Given the description of an element on the screen output the (x, y) to click on. 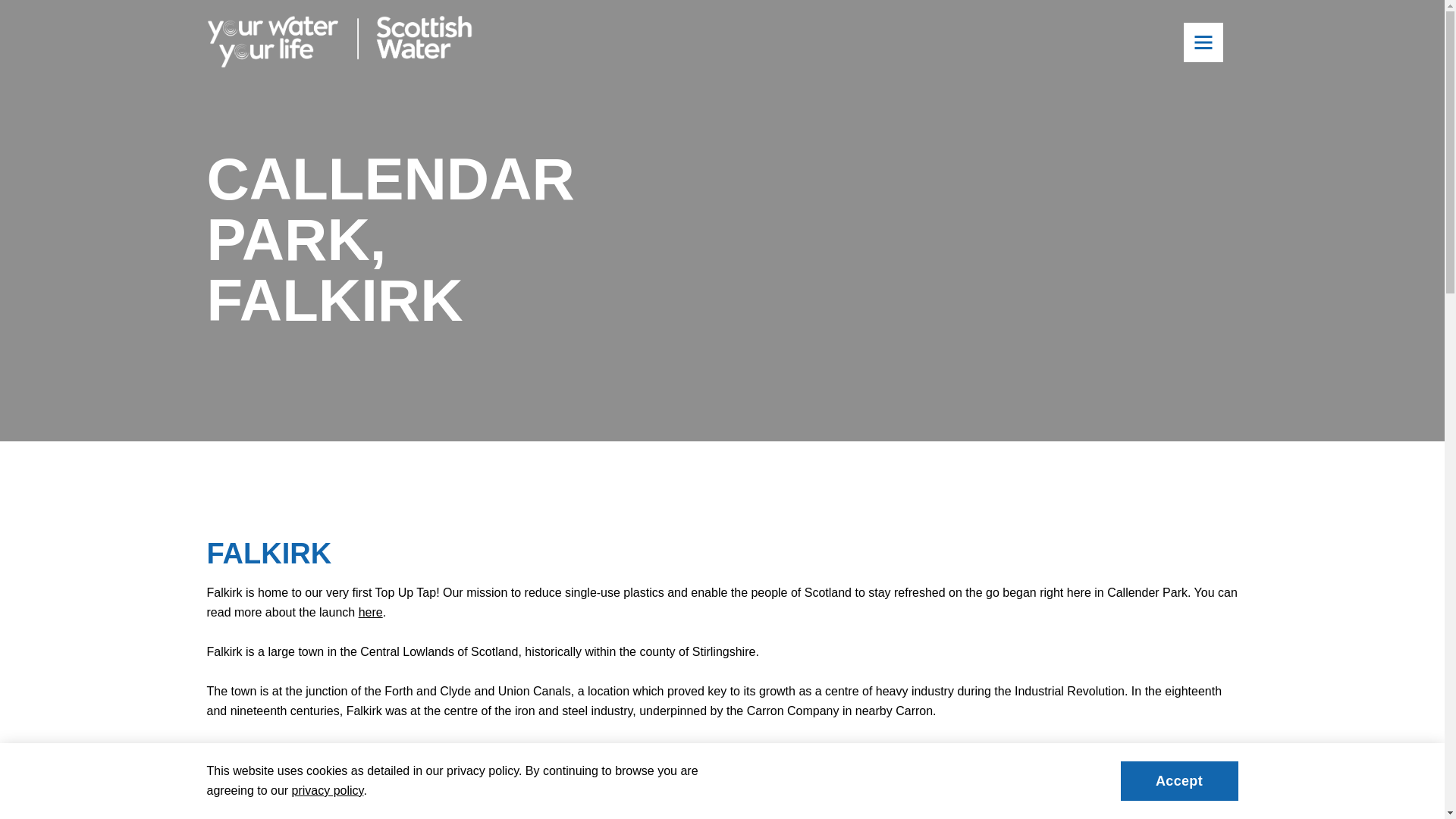
here (370, 612)
